Given the description of an element on the screen output the (x, y) to click on. 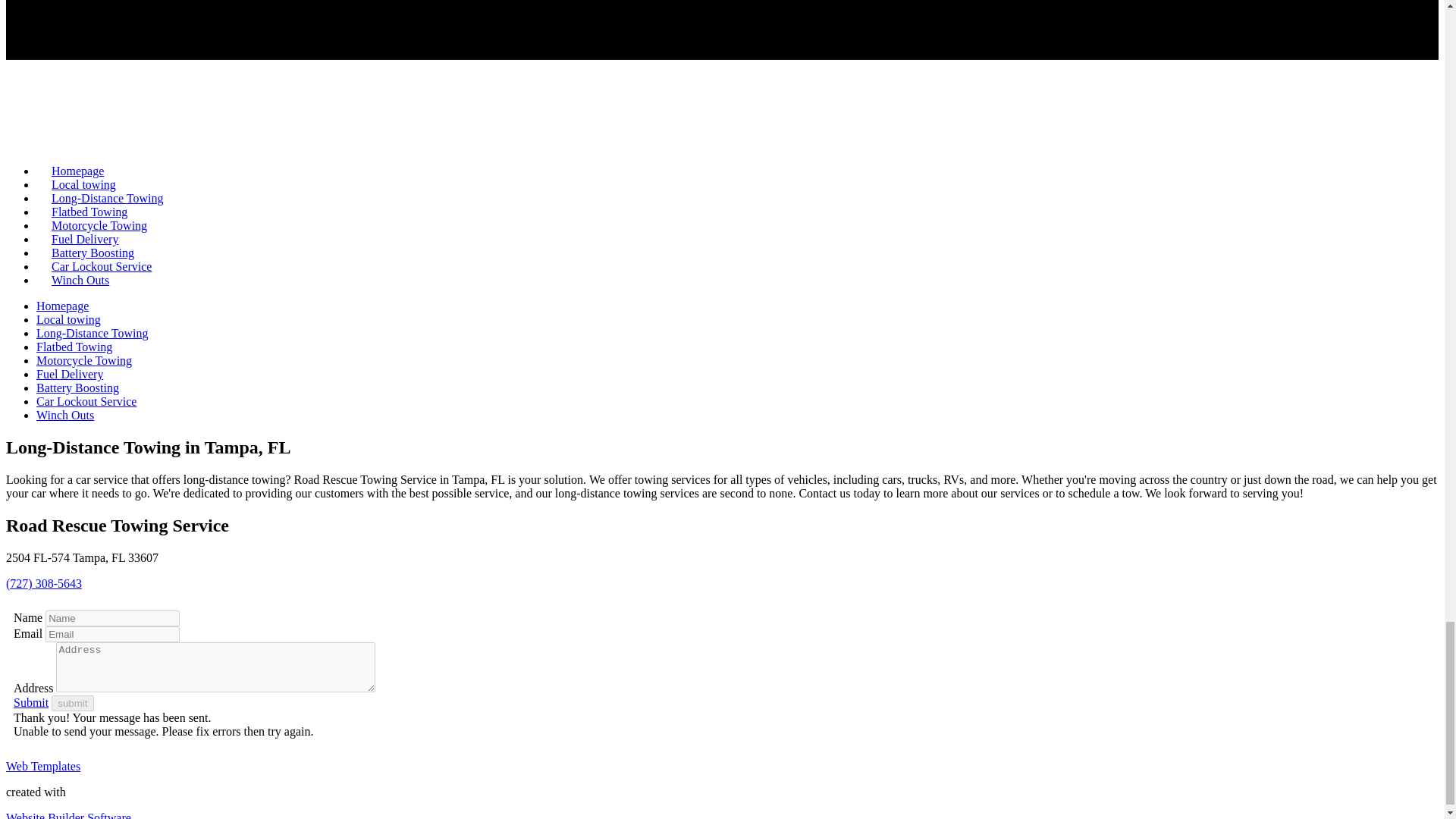
Local towing (68, 318)
Car Lockout Service (86, 400)
Homepage (62, 305)
Long-Distance Towing (92, 332)
Motorcycle Towing (84, 359)
Submit (30, 702)
Flatbed Towing (89, 212)
Fuel Delivery (84, 239)
Winch Outs (65, 414)
Motorcycle Towing (98, 225)
